Given the description of an element on the screen output the (x, y) to click on. 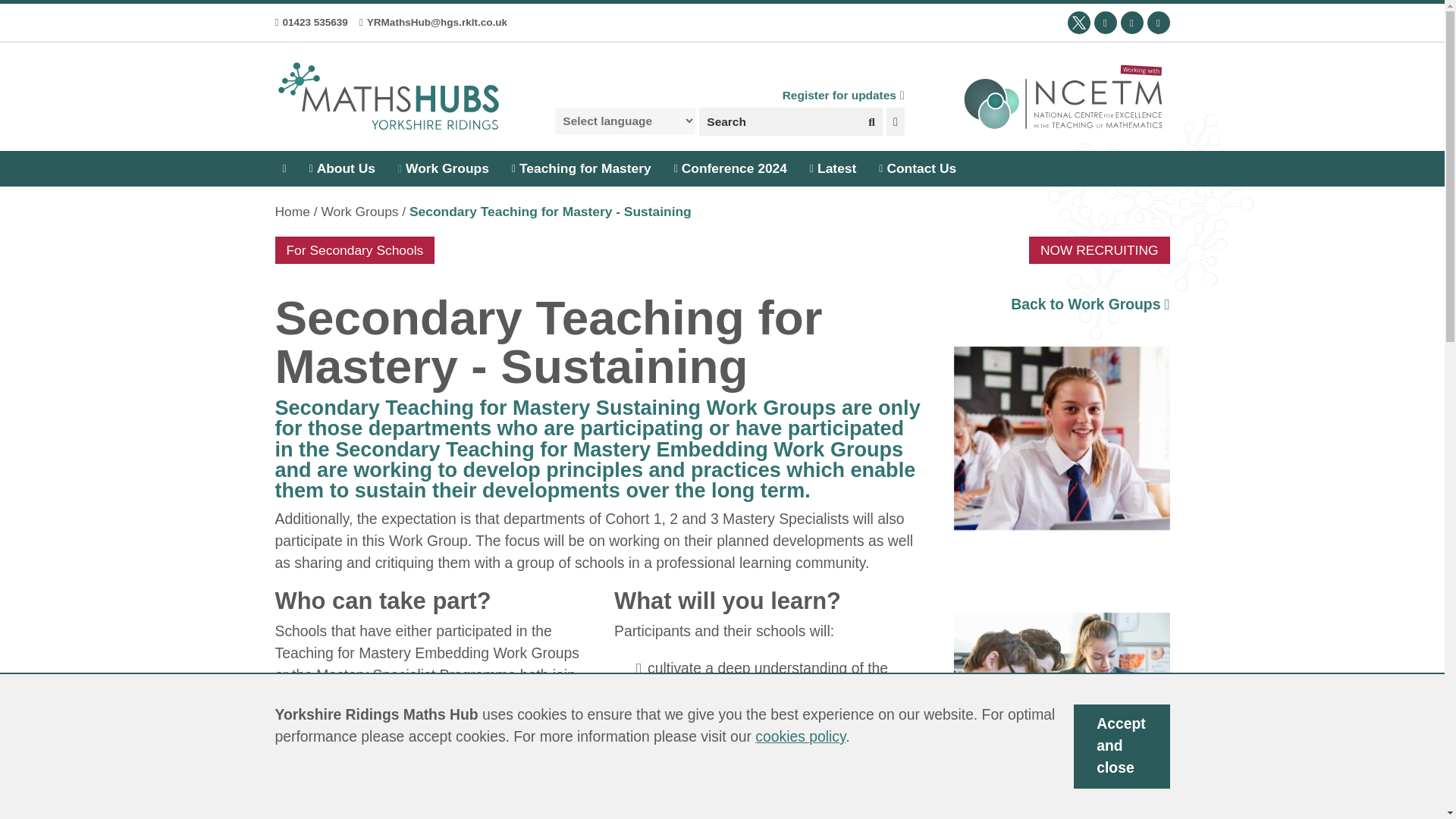
Work Groups (358, 211)
Contact Us (916, 167)
Conference 2024 (730, 167)
Twitter (1078, 22)
Register for updates (843, 101)
Instagram (1158, 22)
01423 535639 (311, 21)
About Us (341, 167)
Work Groups (443, 167)
Facebook (1104, 22)
Telephone number (311, 21)
LinkedIn (1131, 22)
Teaching for Mastery (581, 167)
Email address (432, 21)
Home (291, 211)
